Given the description of an element on the screen output the (x, y) to click on. 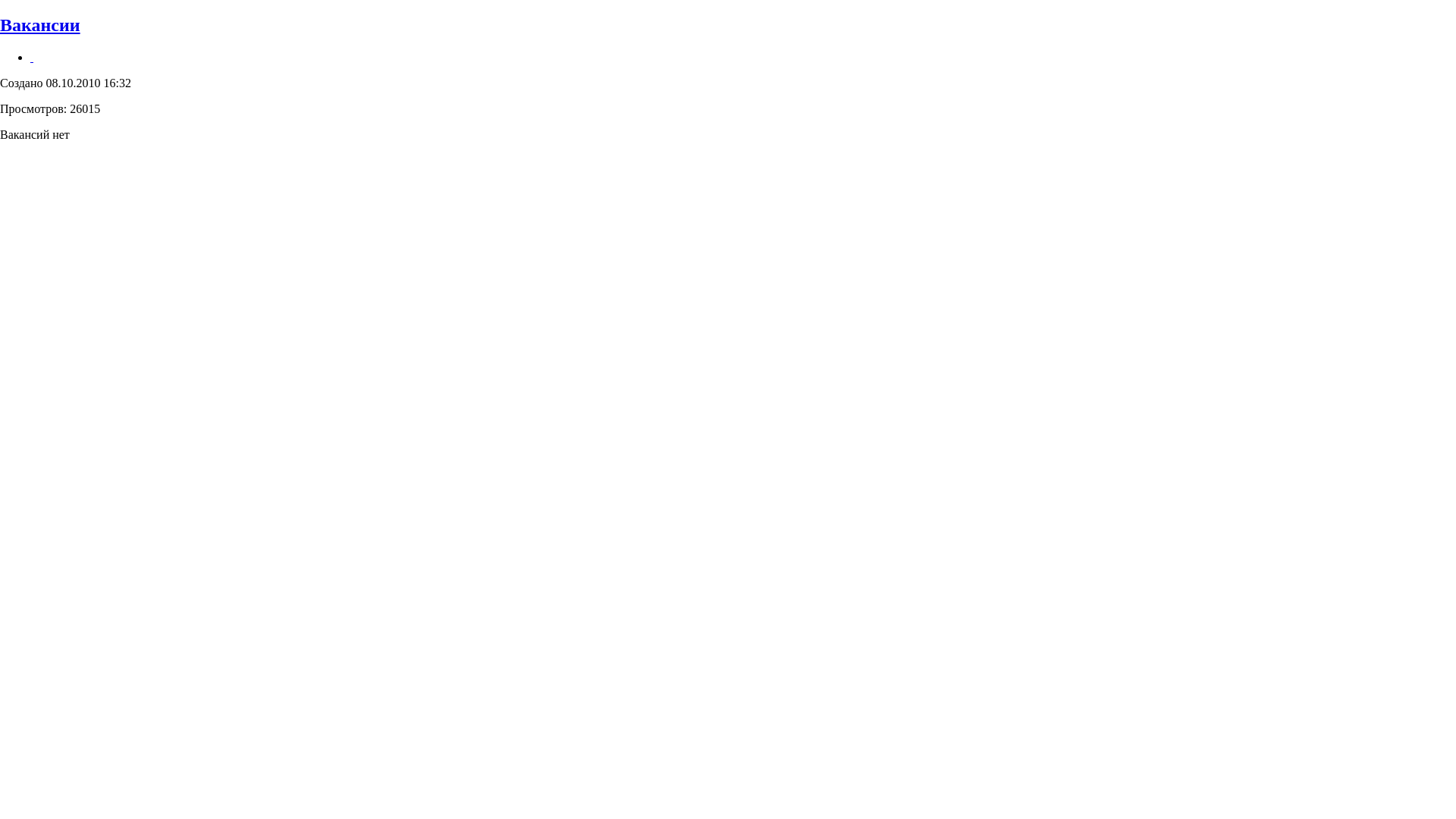
  Element type: text (31, 56)
